Given the description of an element on the screen output the (x, y) to click on. 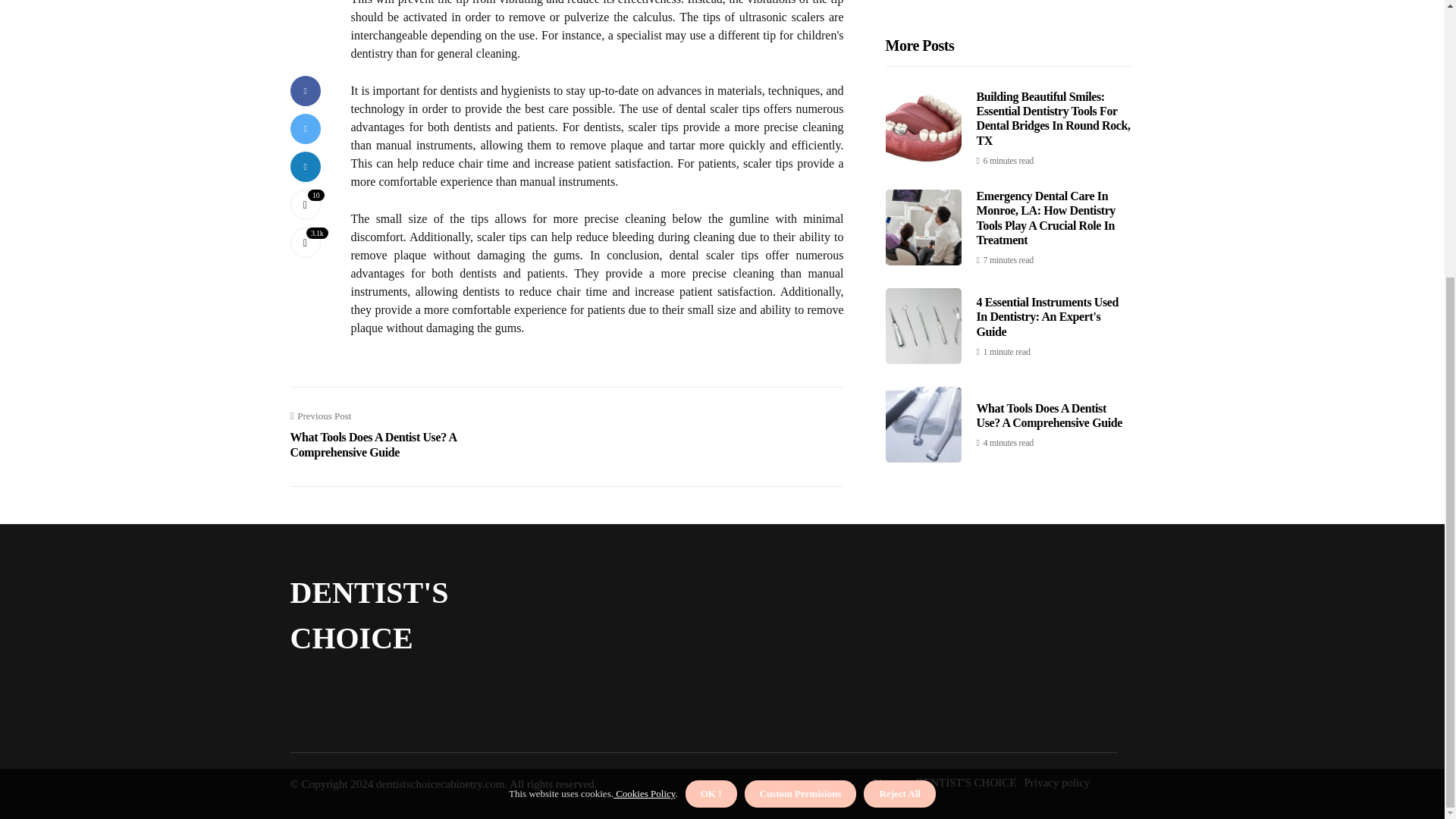
Like (304, 12)
10 (304, 12)
What Tools Does A Dentist Use? A Comprehensive Guide (1049, 73)
